Given the description of an element on the screen output the (x, y) to click on. 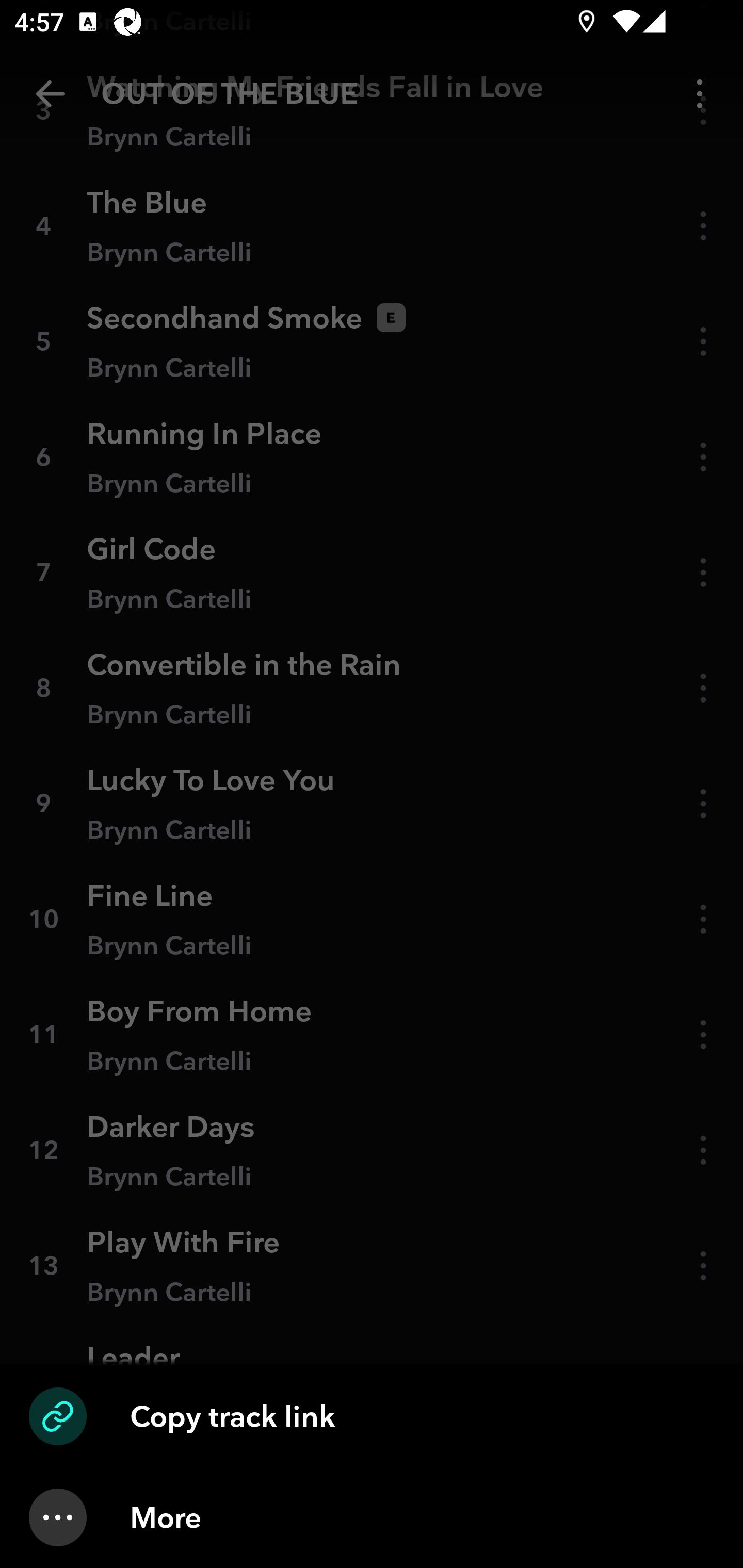
Copy track link (371, 1416)
More (371, 1517)
